Given the description of an element on the screen output the (x, y) to click on. 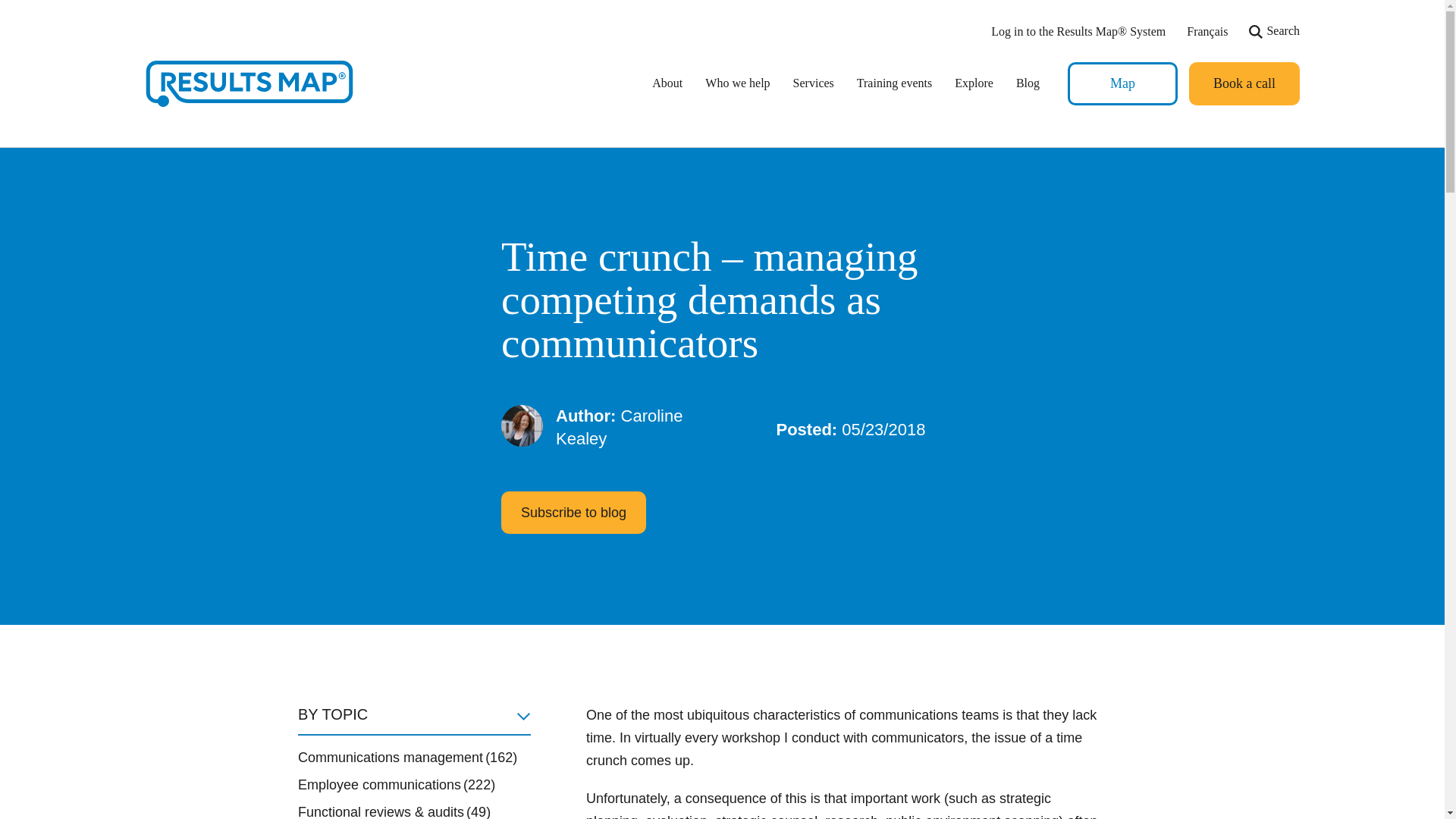
Services (813, 83)
Blog (1027, 83)
About (667, 83)
Explore (973, 83)
Search (1274, 31)
Who we help (737, 83)
Training events (894, 83)
